Given the description of an element on the screen output the (x, y) to click on. 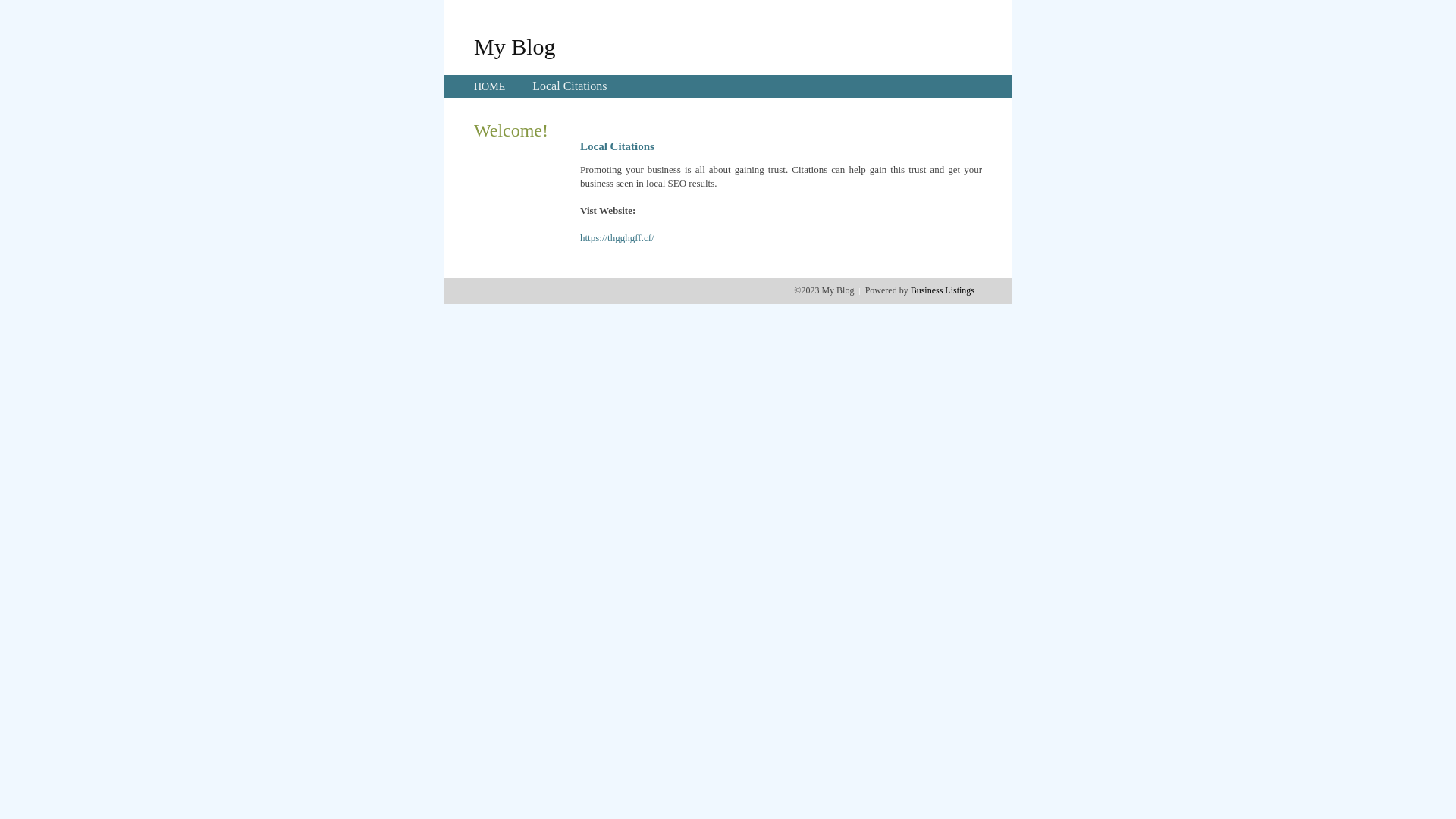
Business Listings Element type: text (942, 290)
Local Citations Element type: text (569, 85)
https://thgghgff.cf/ Element type: text (617, 237)
HOME Element type: text (489, 86)
My Blog Element type: text (514, 46)
